Given the description of an element on the screen output the (x, y) to click on. 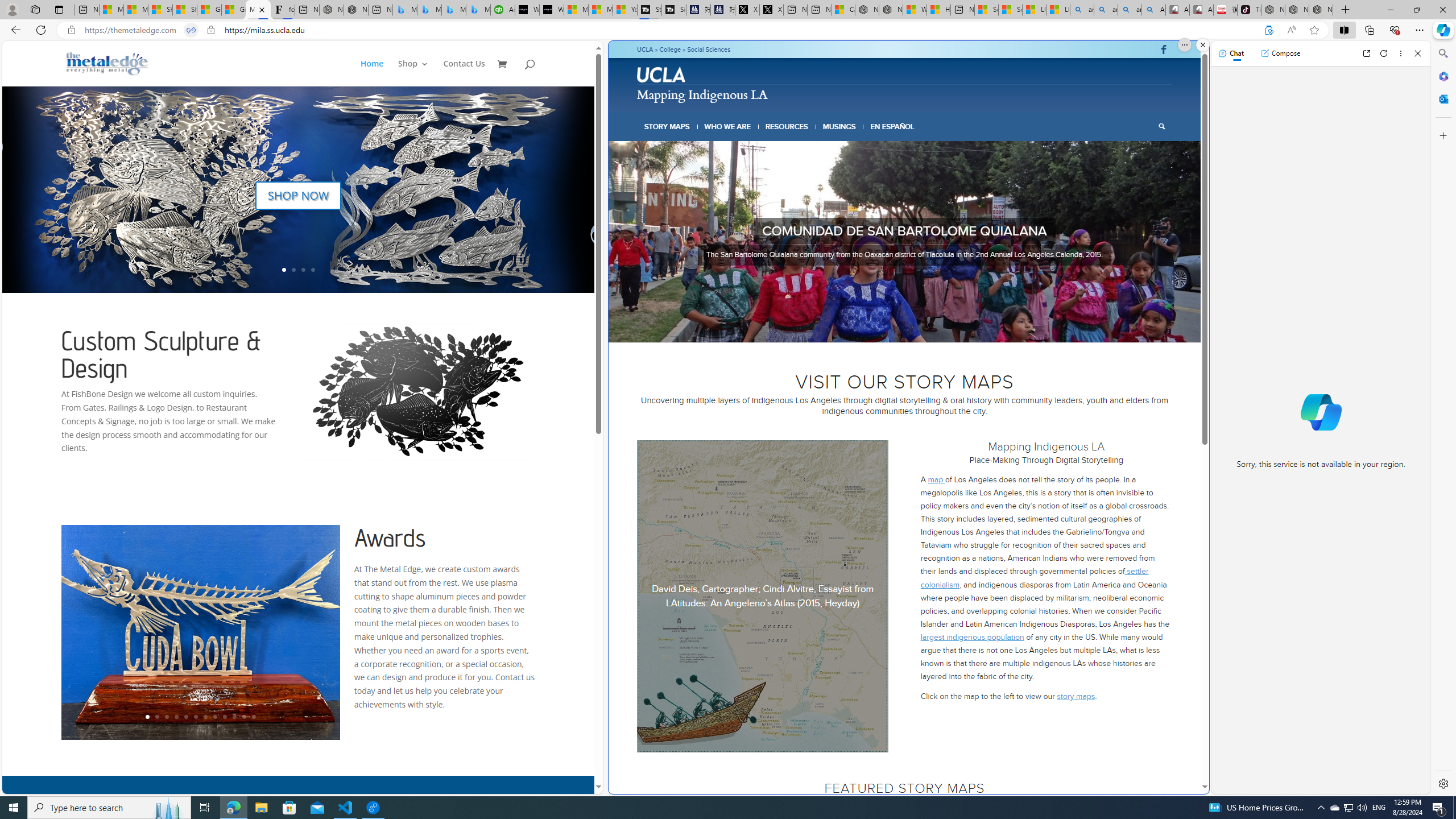
6 (918, 328)
DSC02931 (904, 241)
Nordace Siena Pro 15 Backpack (1296, 9)
Close split screen. (1202, 45)
Alvitre map latitudes1 (763, 595)
Microsoft Bing Travel - Stays in Bangkok, Bangkok, Thailand (429, 9)
7 (927, 328)
map  (935, 479)
 settler colonialism (1034, 577)
